Given the description of an element on the screen output the (x, y) to click on. 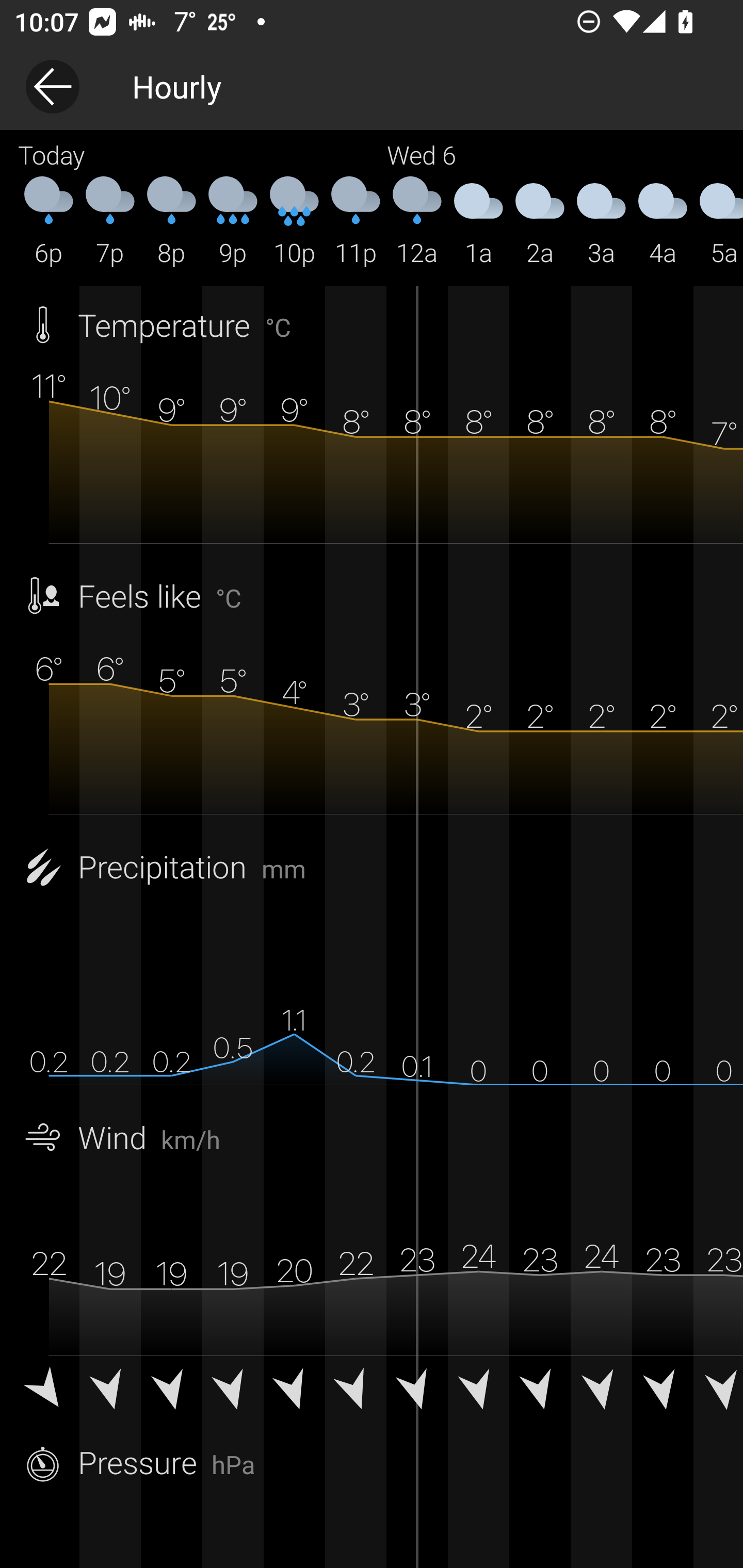
6p (48, 222)
7p (110, 222)
8p (171, 222)
9p (232, 222)
10p (294, 222)
11p (355, 222)
12a (417, 222)
1a (478, 222)
2a (539, 222)
3a (601, 222)
4a (662, 222)
5a (718, 222)
 (48, 1391)
 (110, 1391)
 (171, 1391)
 (232, 1391)
 (294, 1391)
 (355, 1391)
 (417, 1391)
 (478, 1391)
 (539, 1391)
 (601, 1391)
 (662, 1391)
 (718, 1391)
